Given the description of an element on the screen output the (x, y) to click on. 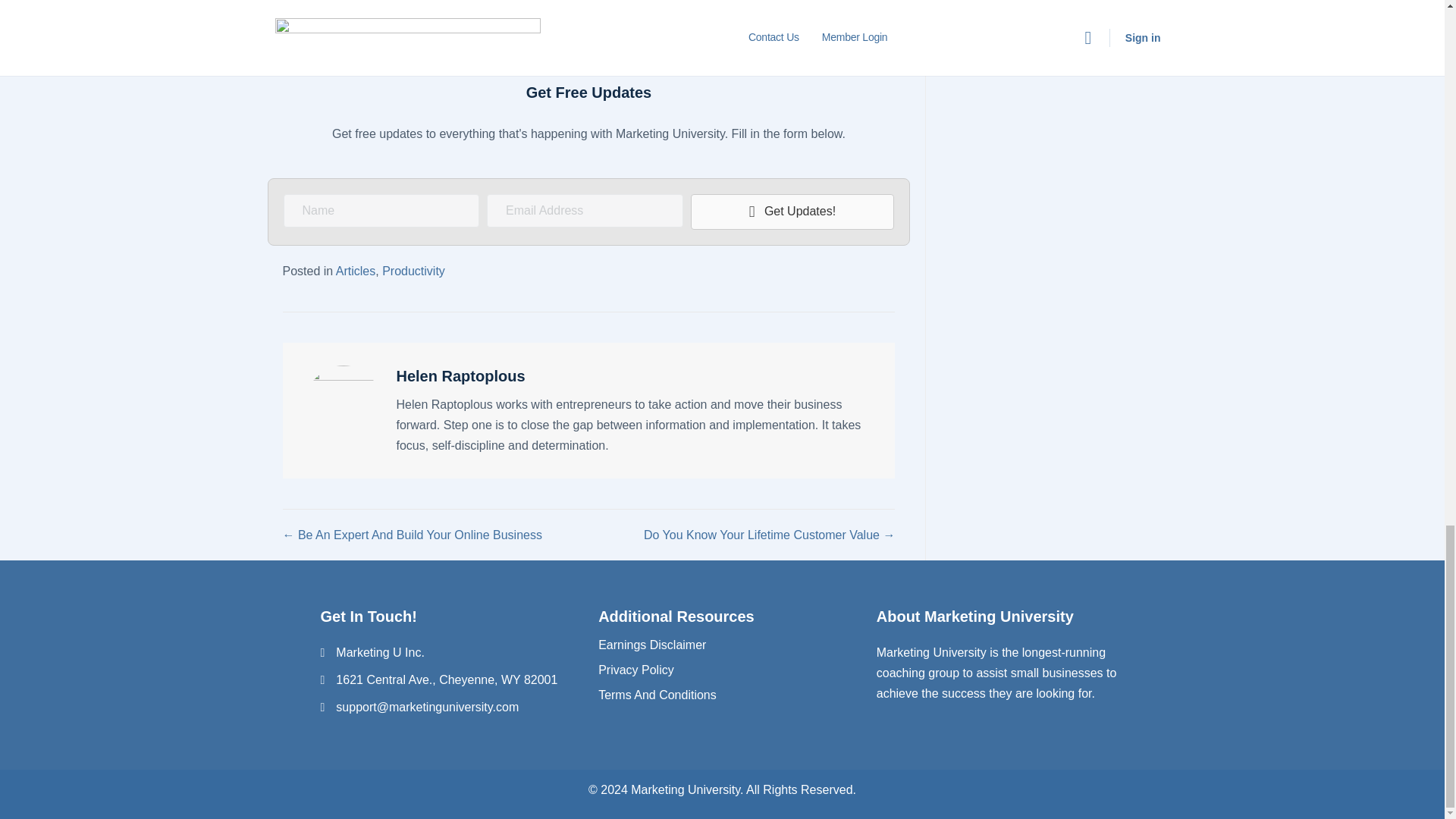
Earnings Disclaimer (652, 644)
Facebook Landscape (588, 25)
1621 Central Ave., Cheyenne, WY 82001 (446, 679)
Marketing U Inc. (379, 652)
Privacy Policy (636, 669)
Articles (355, 270)
Get Updates! (792, 212)
Terms And Conditions (657, 694)
Productivity (413, 270)
